Given the description of an element on the screen output the (x, y) to click on. 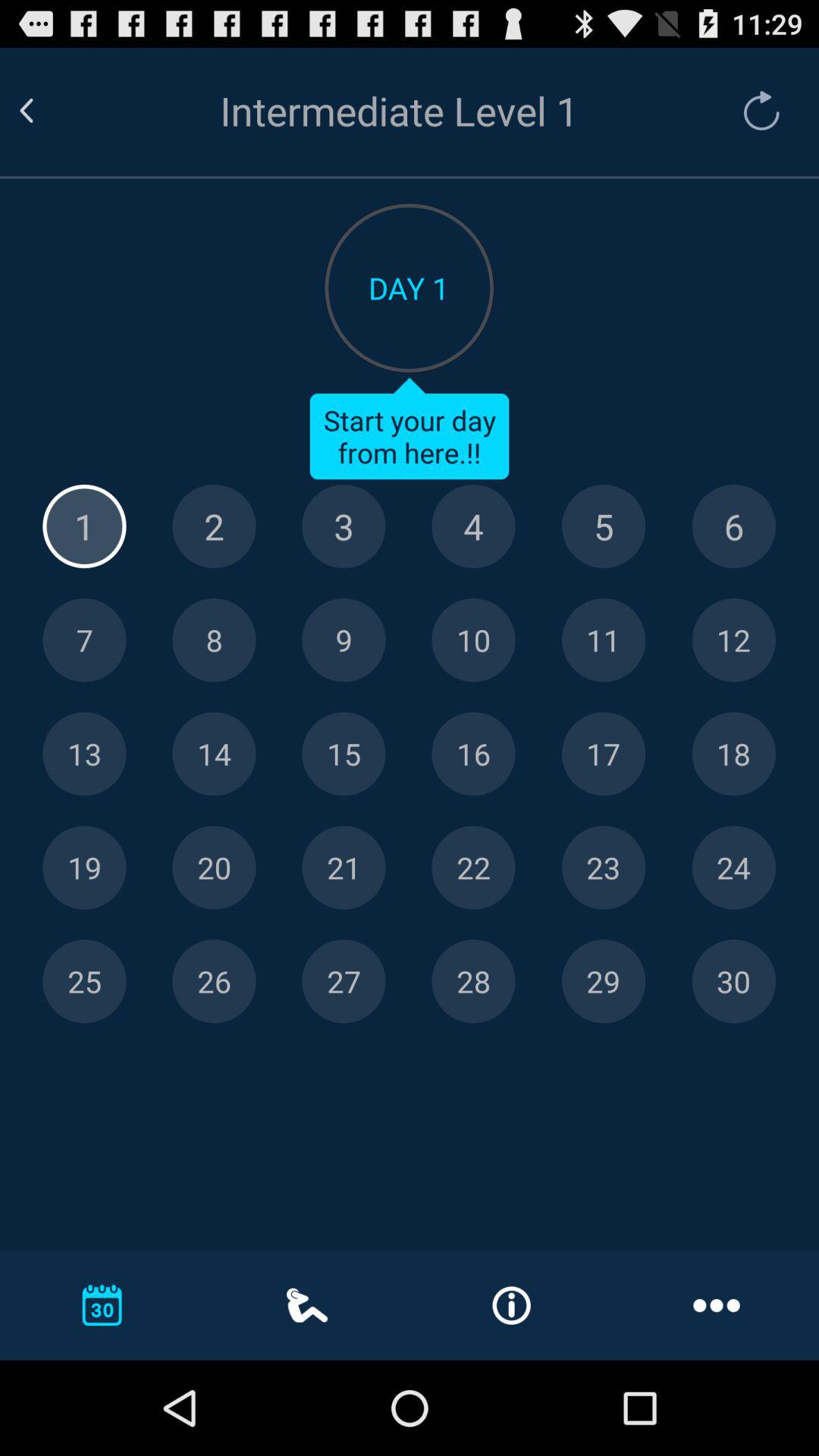
go to day 23 (603, 867)
